Given the description of an element on the screen output the (x, y) to click on. 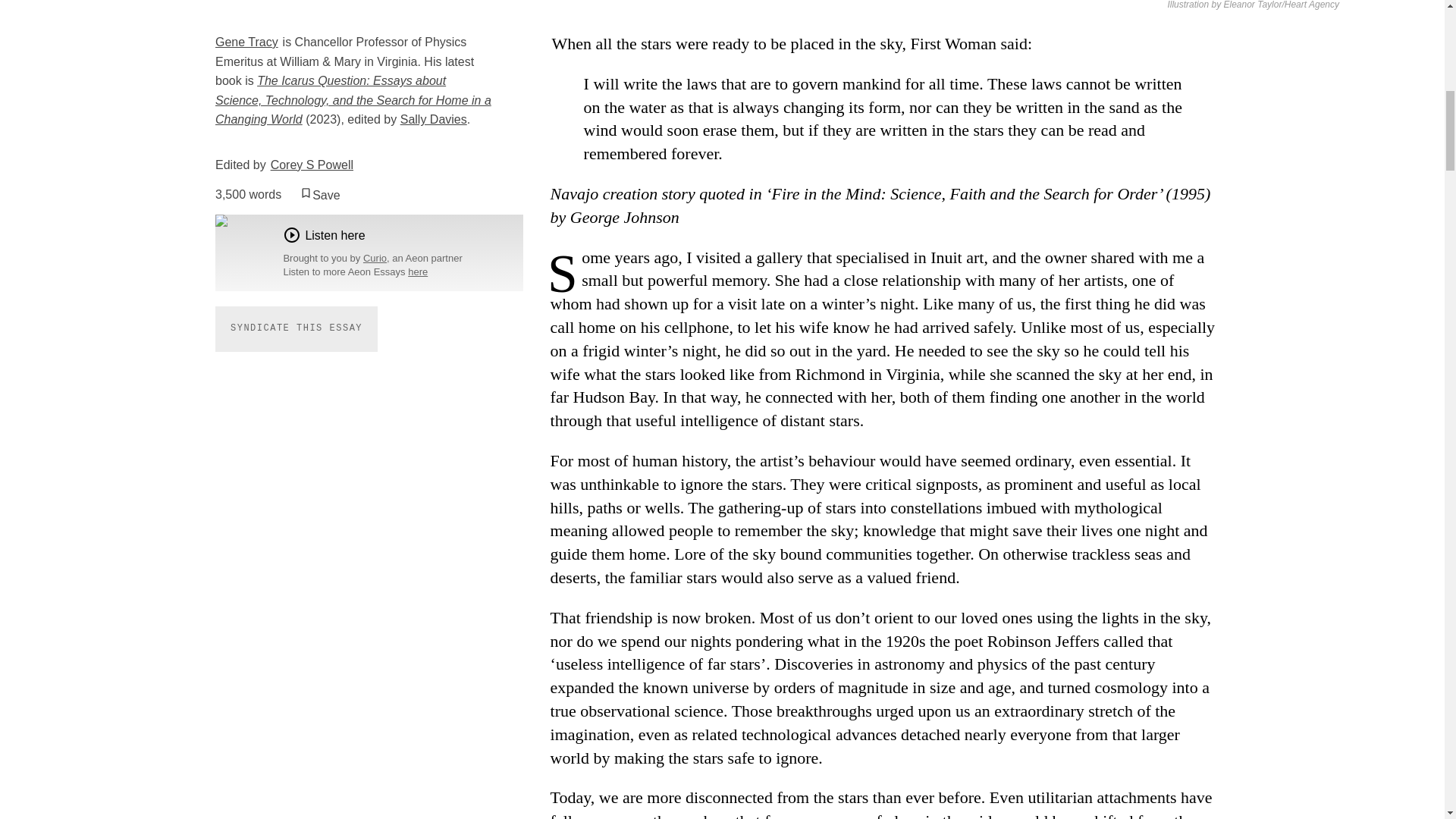
here (417, 271)
Corey S Powell (311, 164)
Sally Davies (433, 119)
SYNDICATE THIS ESSAY (296, 328)
Gene Tracy (246, 42)
Curio (374, 257)
